Given the description of an element on the screen output the (x, y) to click on. 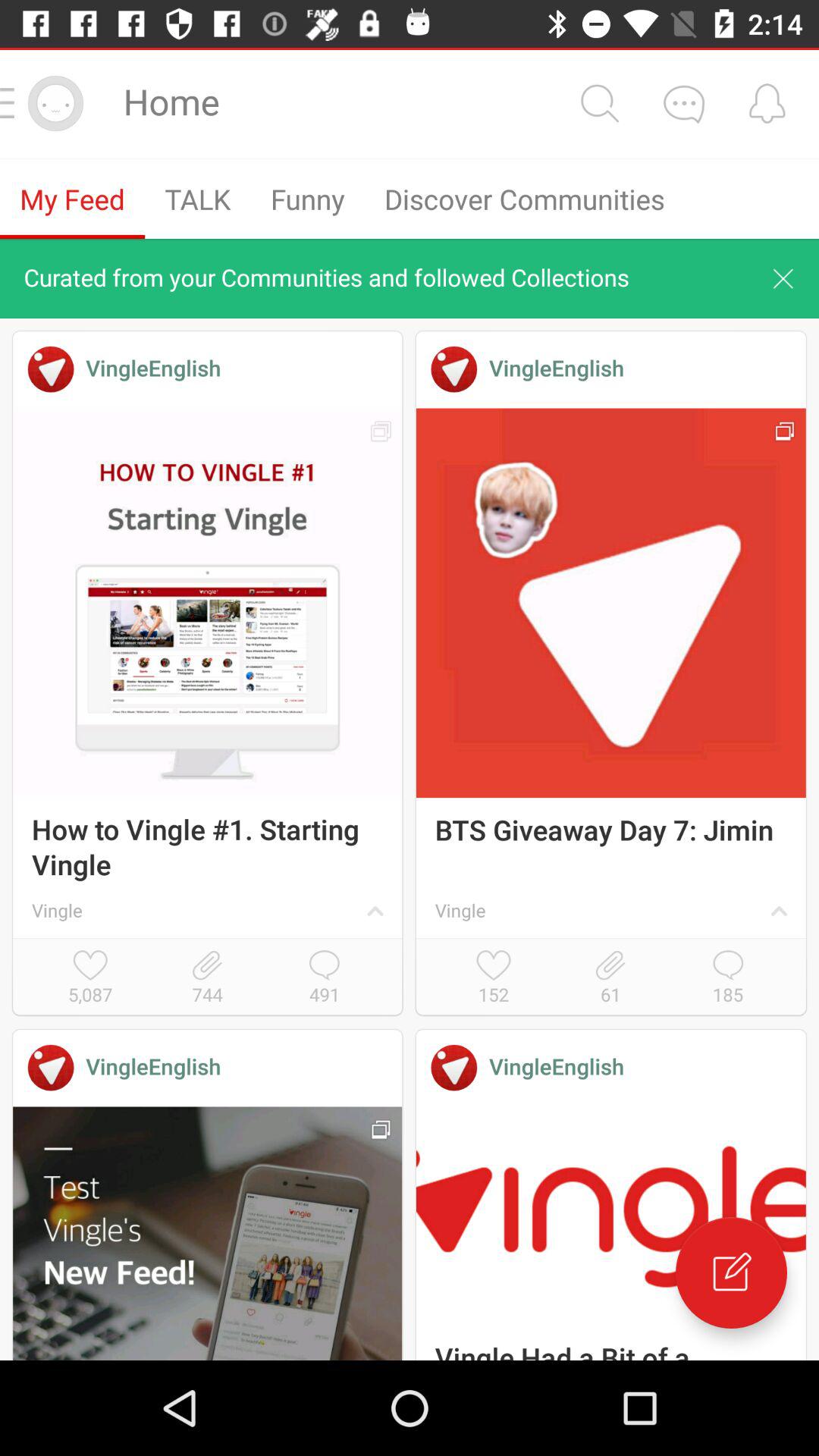
create new post (731, 1272)
